Given the description of an element on the screen output the (x, y) to click on. 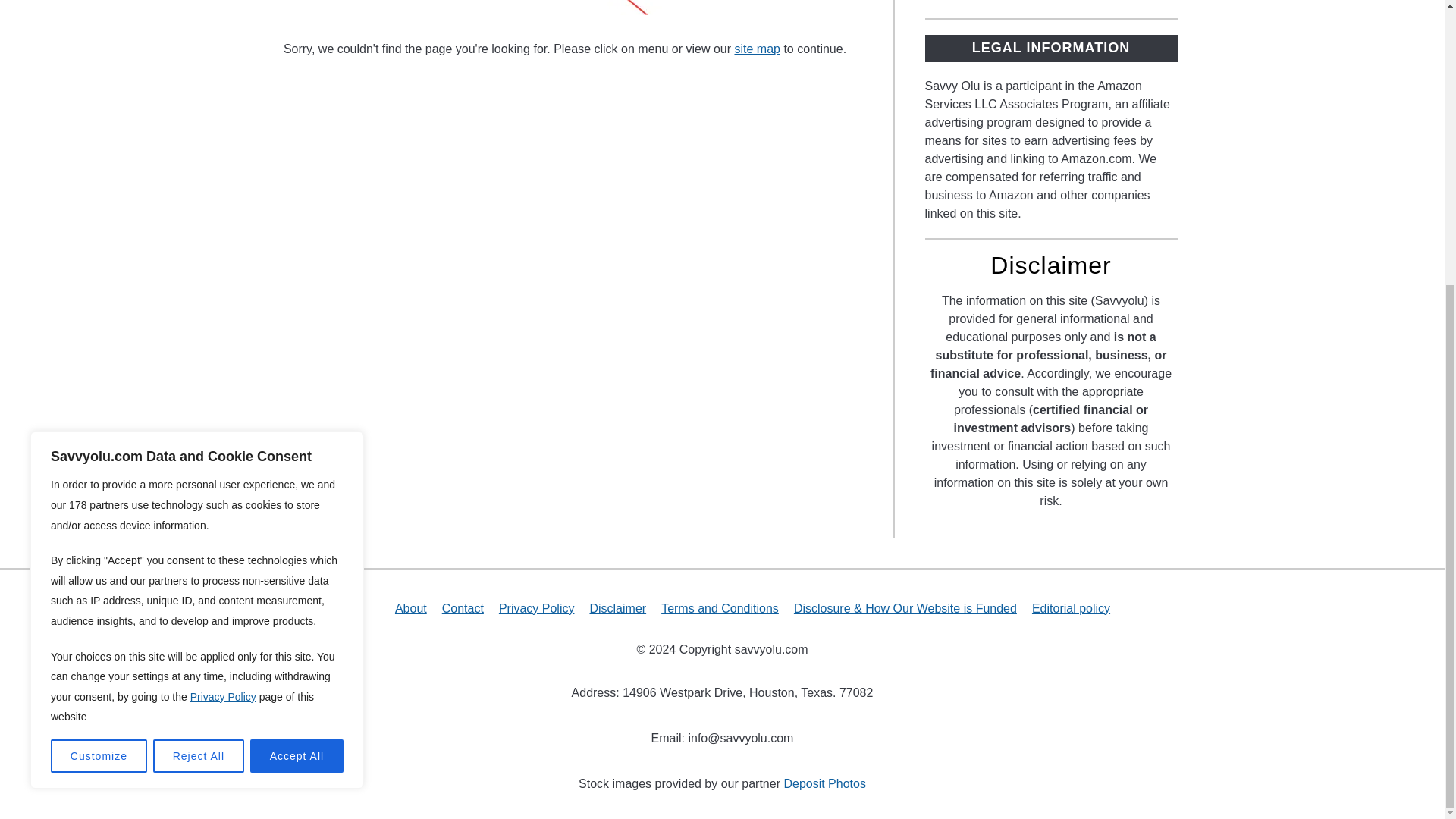
Privacy Policy (537, 608)
site map (755, 48)
Accept All (296, 326)
Contact (462, 608)
Editorial policy (1070, 608)
Customize (98, 326)
Deposit Photos (824, 783)
About (410, 608)
Privacy Policy (223, 267)
Terms and Conditions (719, 608)
